Given the description of an element on the screen output the (x, y) to click on. 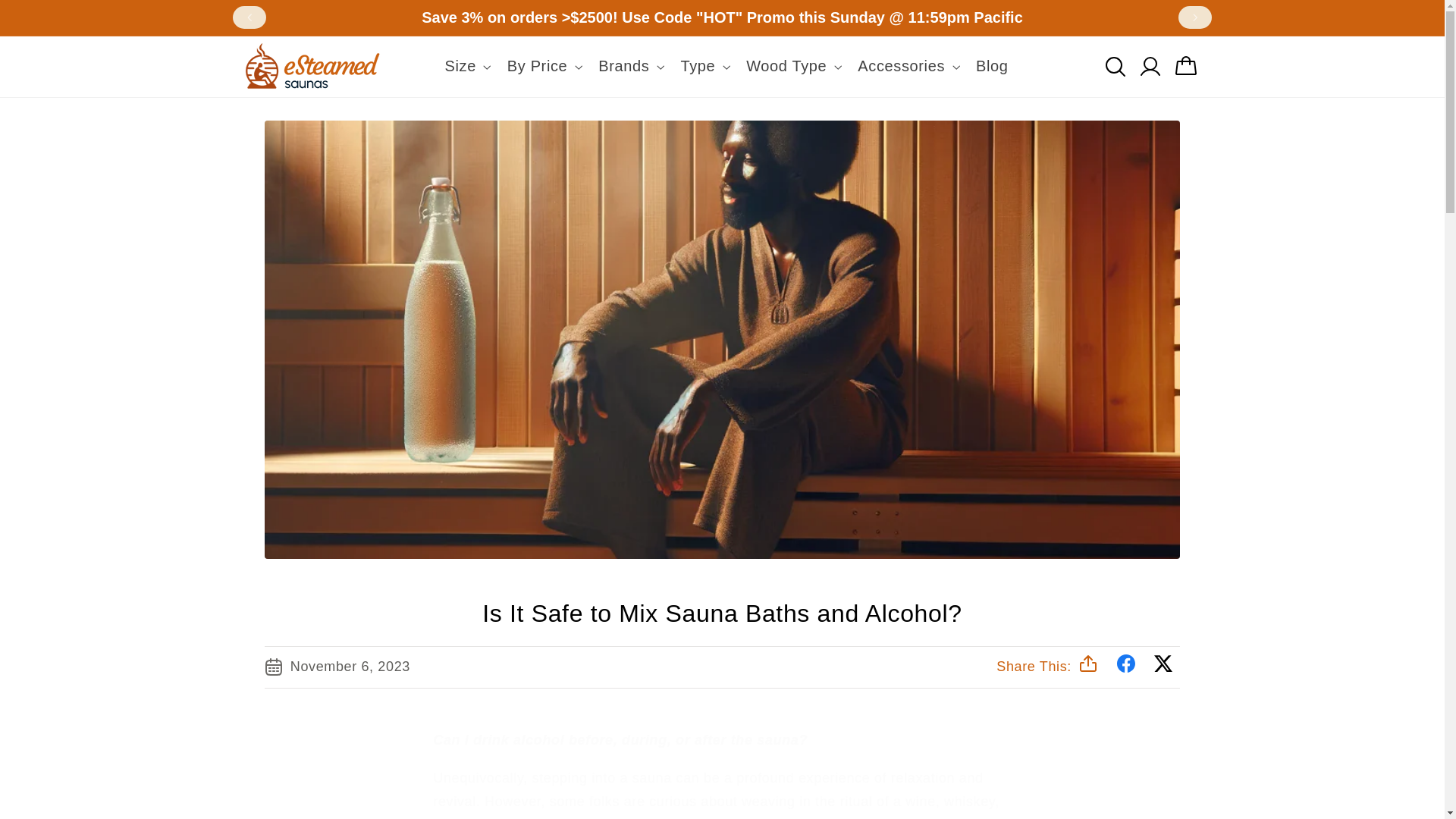
Tweet on Twitter (1163, 667)
Skip to content (48, 18)
Share on Facebook (1128, 667)
Is It Safe to Mix Sauna Baths and Alcohol? (722, 613)
